Given the description of an element on the screen output the (x, y) to click on. 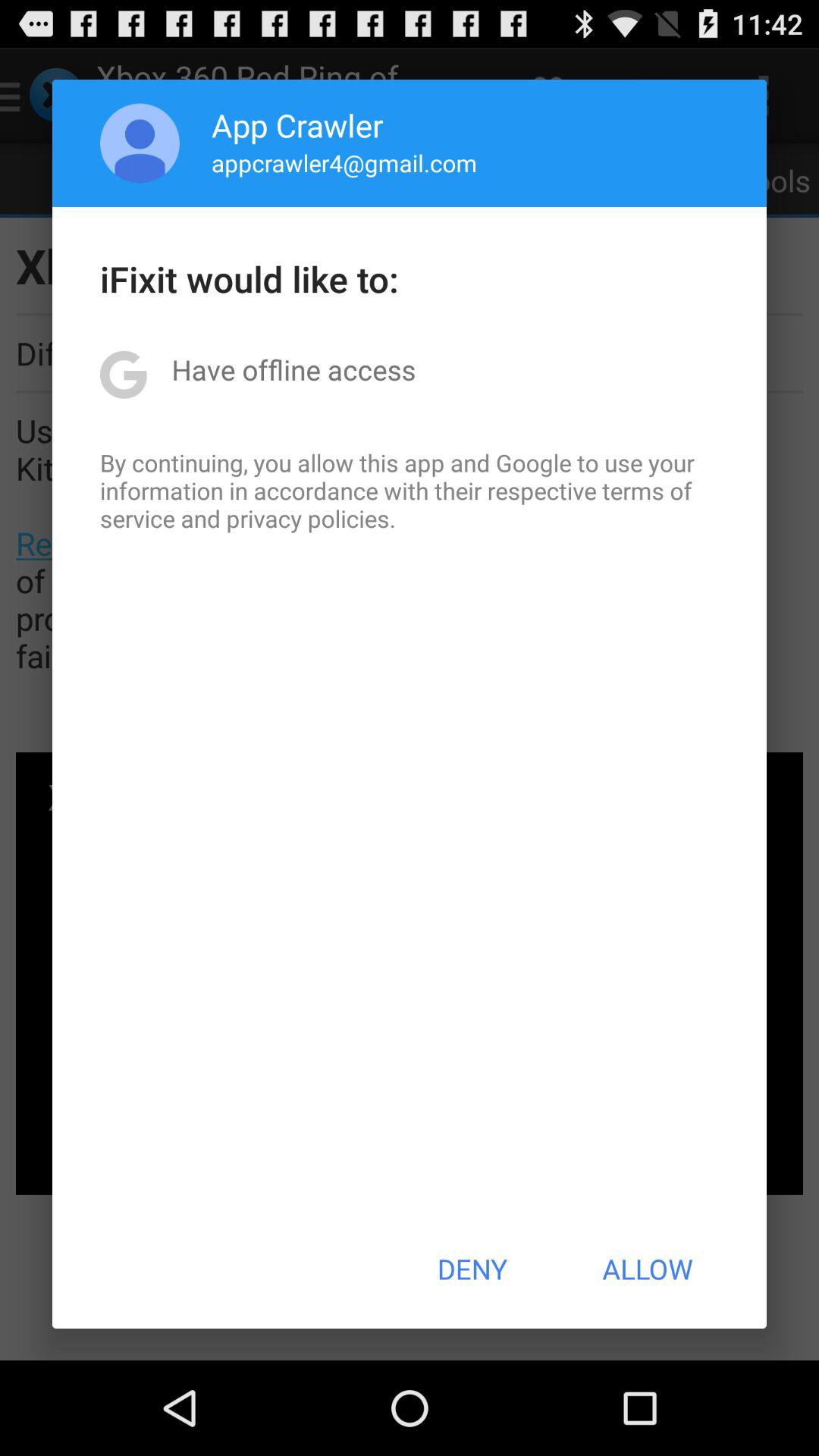
swipe until the deny (471, 1268)
